Given the description of an element on the screen output the (x, y) to click on. 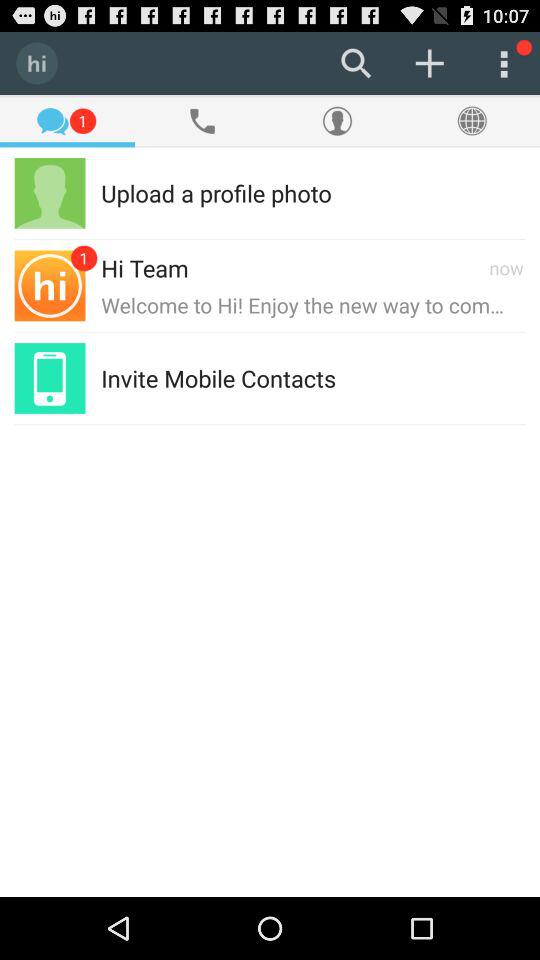
turn off the item to the right of hi team item (337, 267)
